Given the description of an element on the screen output the (x, y) to click on. 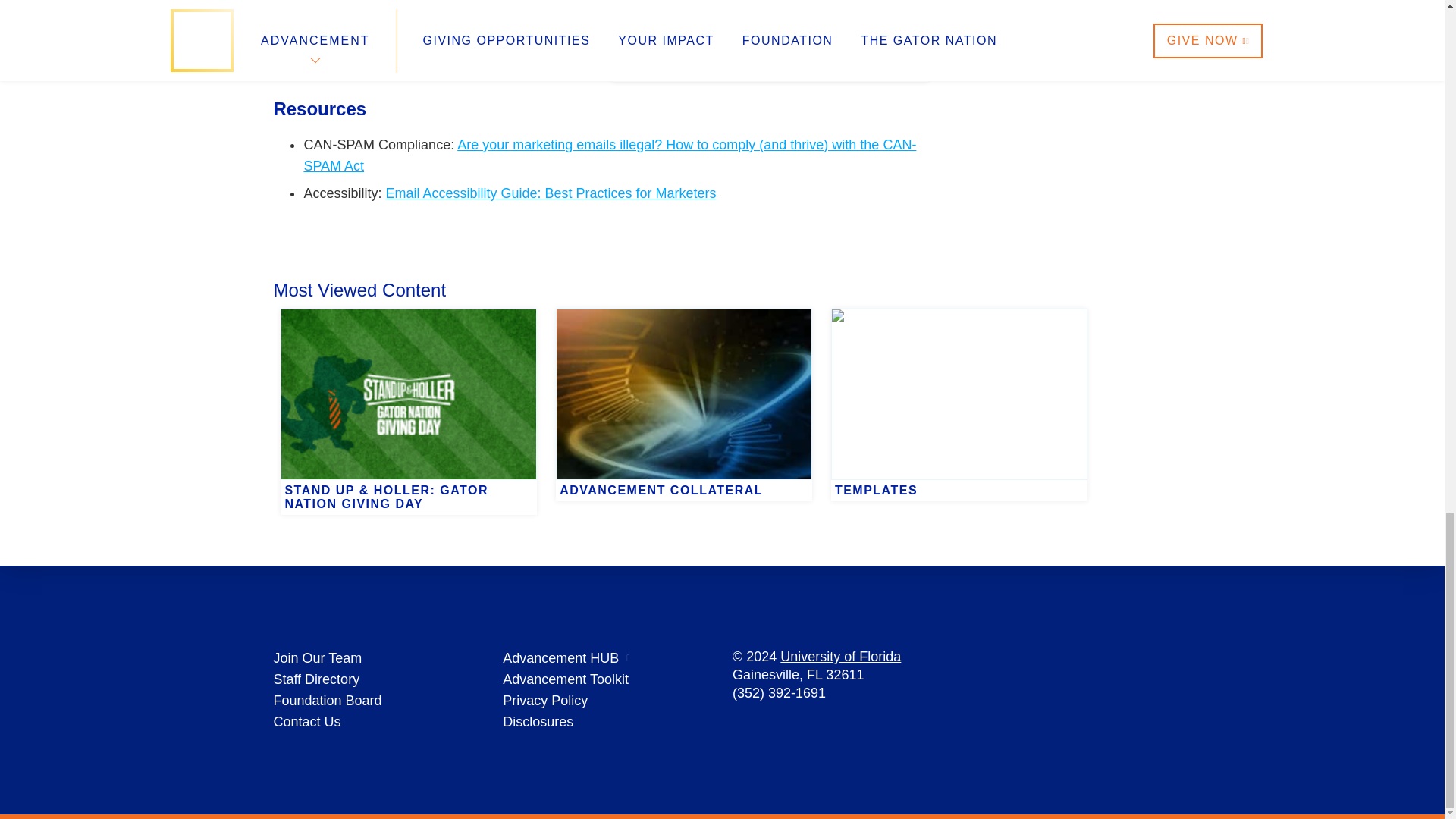
ADVANCEMENT COLLATERAL (683, 308)
Staff Directory (316, 679)
Foundation Board (327, 700)
TEMPLATES (959, 308)
Contact Us (306, 721)
Email Accessibility Guide: Best Practices for Marketers (550, 192)
Advancement HUB (560, 657)
Join Our Team (317, 657)
